Given the description of an element on the screen output the (x, y) to click on. 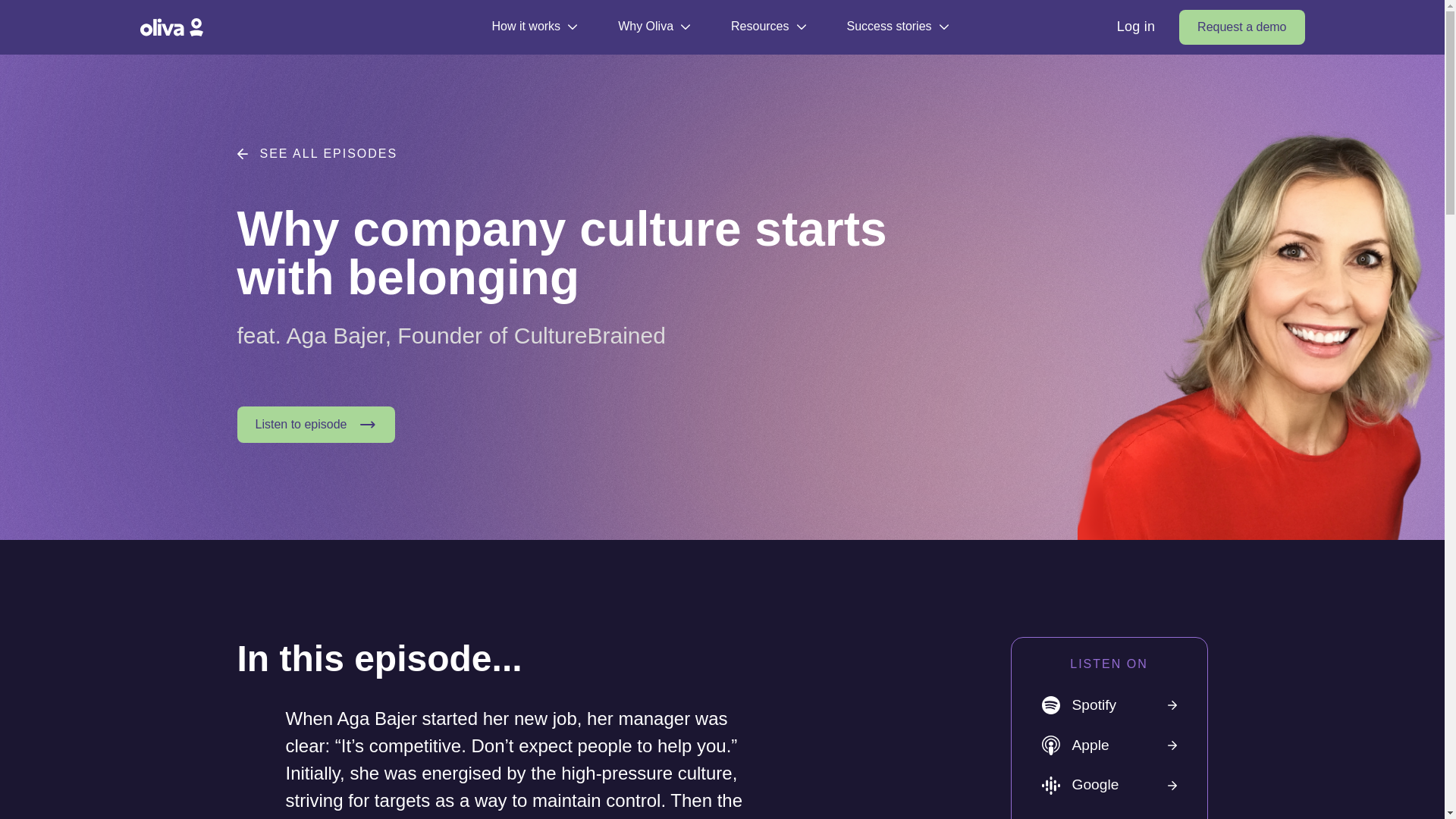
Request a demo (1241, 27)
Apple (1109, 745)
Listen to episode (314, 424)
Log in (1136, 26)
Amazon (1109, 812)
Google (1109, 784)
Spotify (1109, 705)
SEE ALL EPISODES (573, 153)
